Given the description of an element on the screen output the (x, y) to click on. 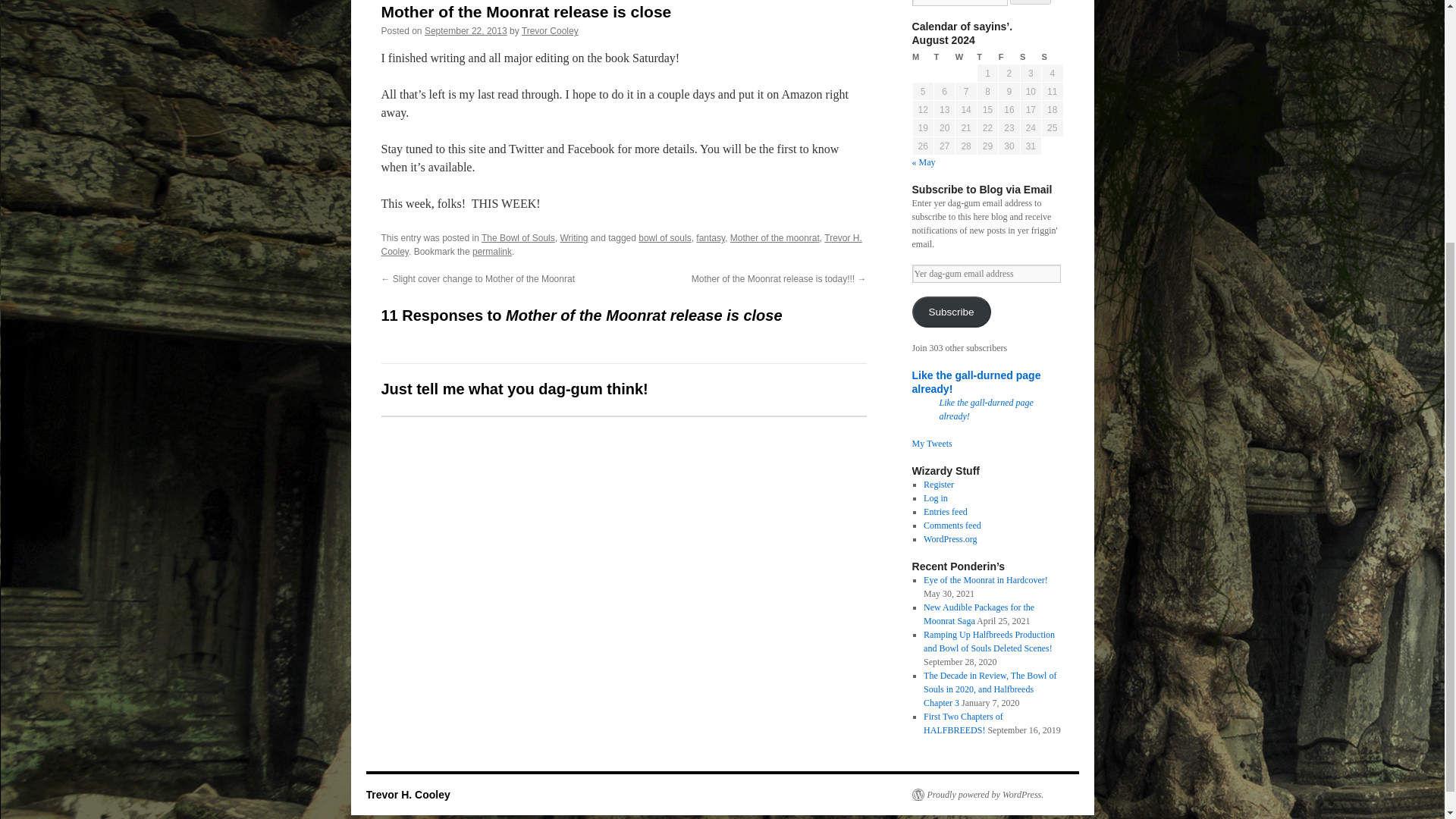
Trevor Cooley (549, 30)
Monday (922, 56)
View all posts by Trevor Cooley (549, 30)
September 22, 2013 (465, 30)
permalink (491, 251)
bowl of souls (664, 237)
Thursday (986, 56)
Permalink to Mother of the Moonrat release is close (491, 251)
The Bowl of Souls (517, 237)
Mother of the moonrat (774, 237)
